Given the description of an element on the screen output the (x, y) to click on. 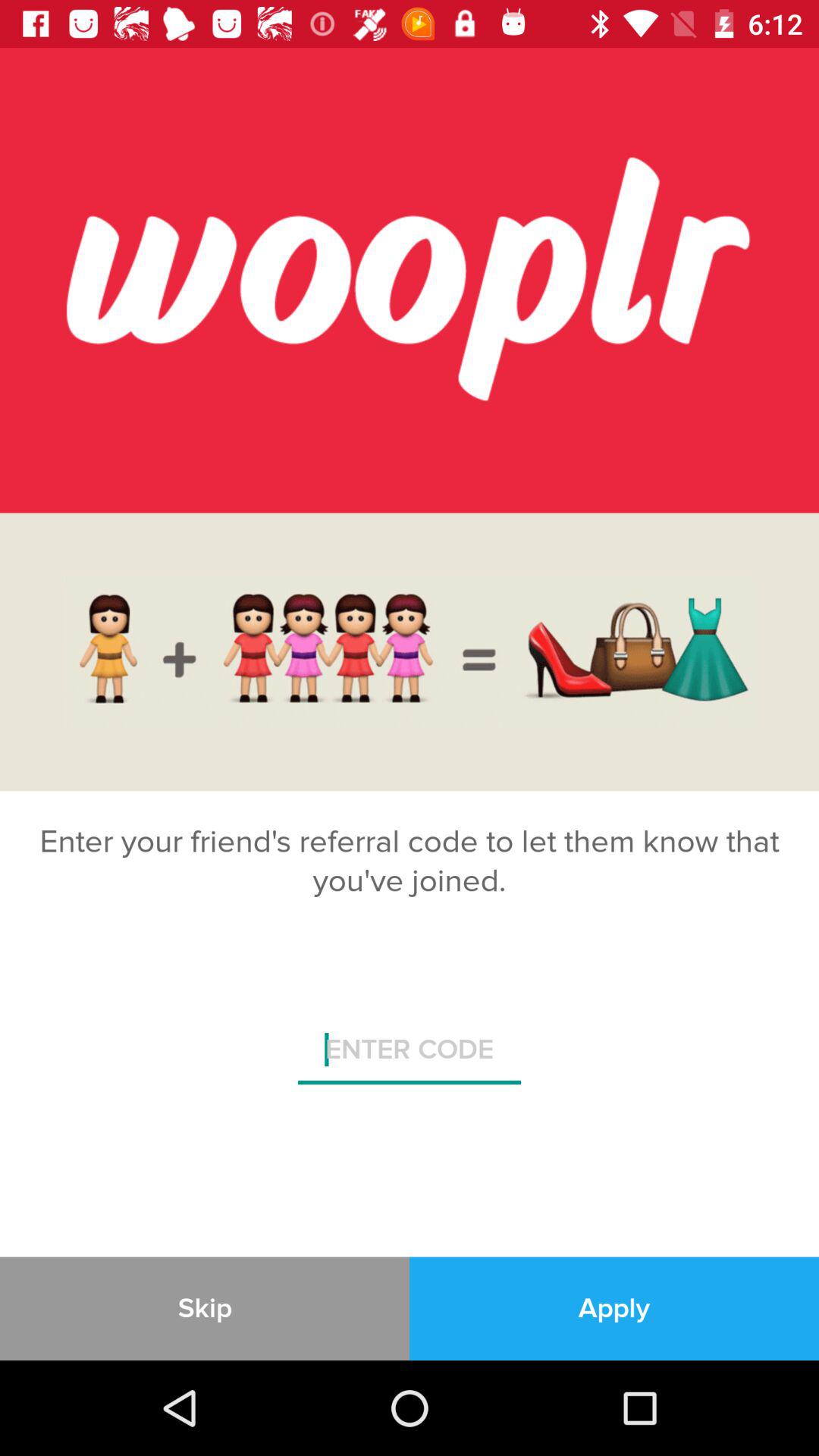
enter referral code (409, 1055)
